Given the description of an element on the screen output the (x, y) to click on. 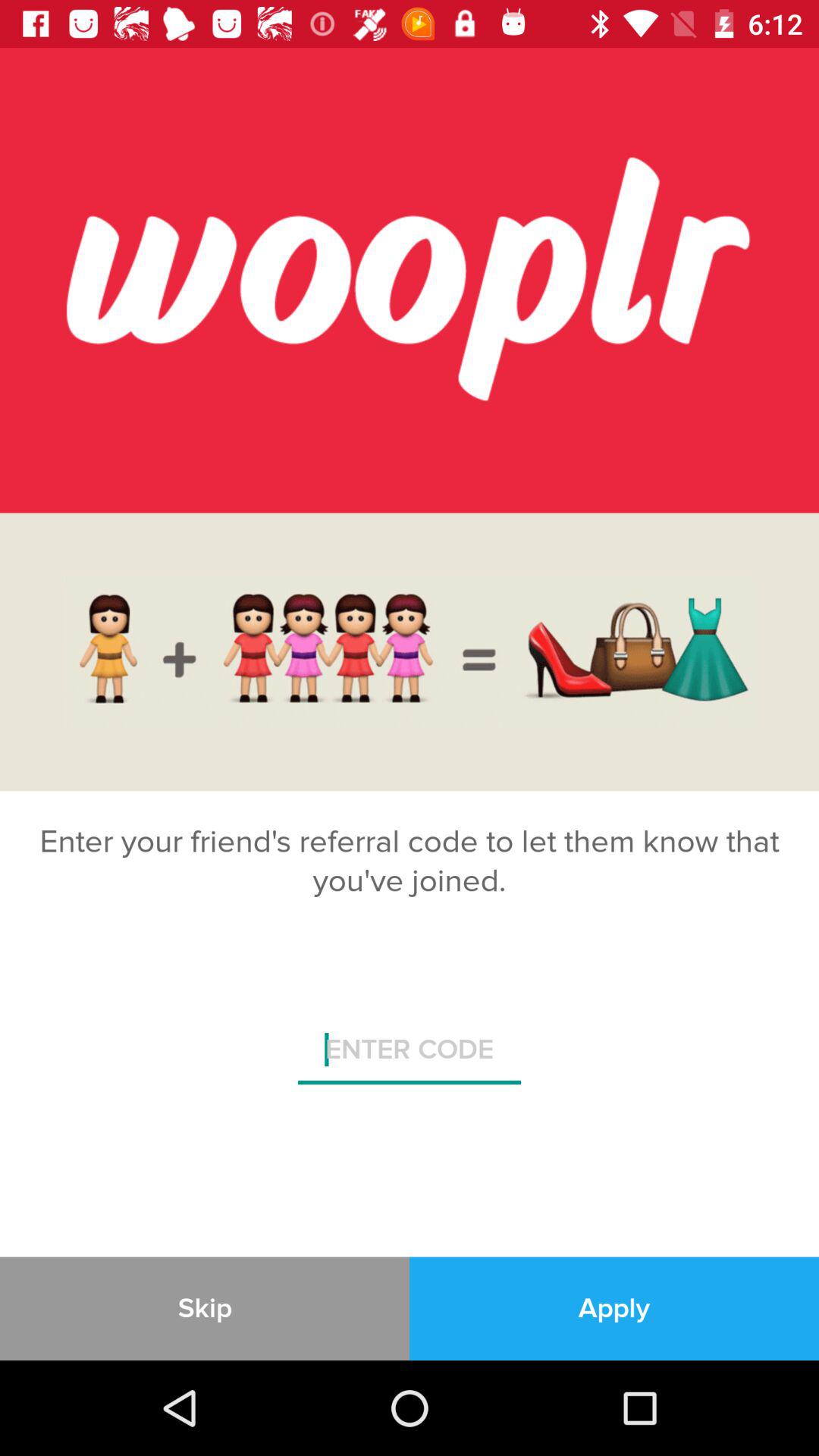
enter referral code (409, 1055)
